Given the description of an element on the screen output the (x, y) to click on. 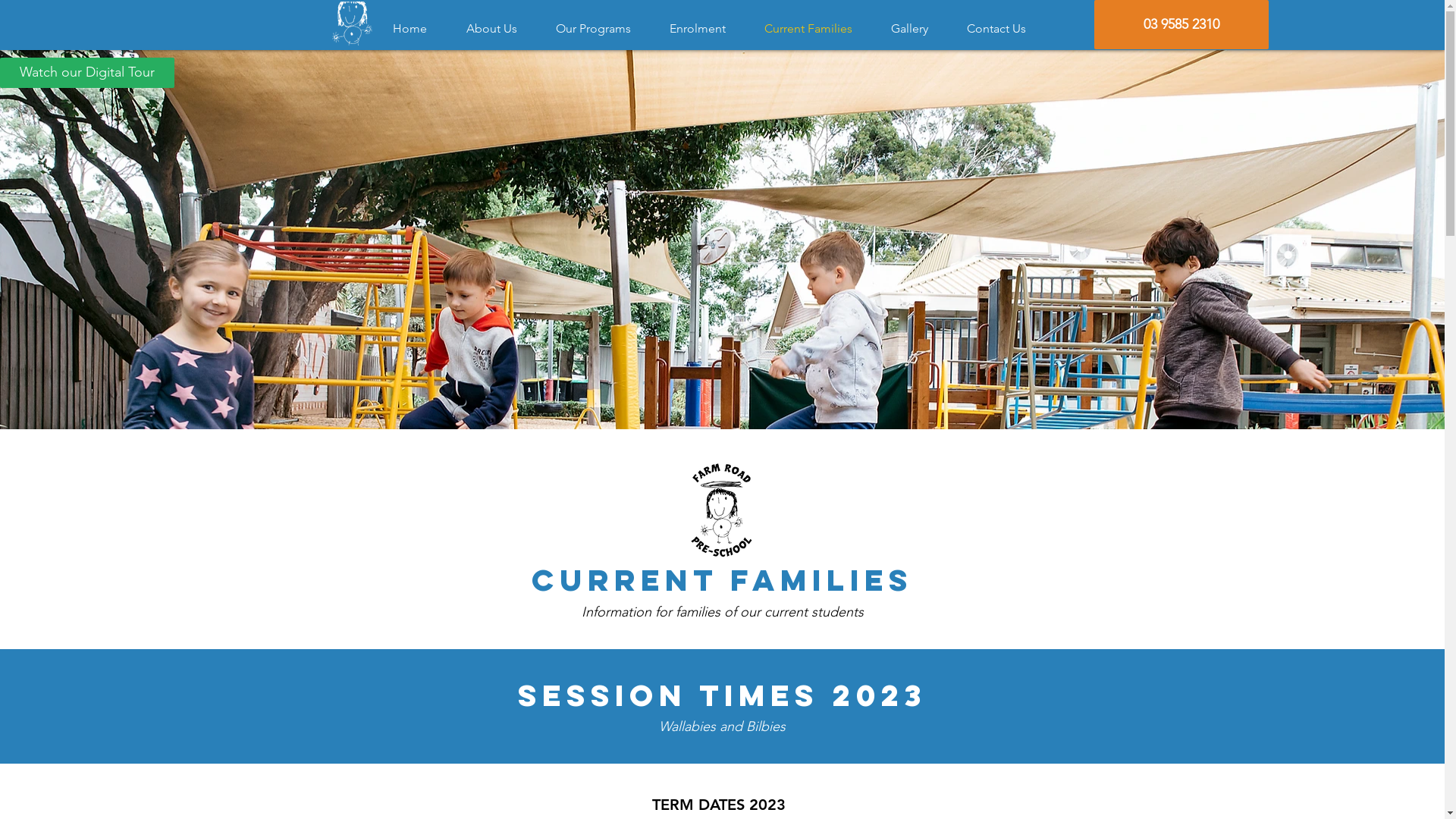
Watch our Digital Tour Element type: text (87, 72)
Gallery Element type: text (917, 28)
Enrolment Element type: text (705, 28)
03 9585 2310 Element type: text (1180, 24)
About Us Element type: text (499, 28)
Contact Us Element type: text (1004, 28)
Our Programs Element type: text (601, 28)
Current Families Element type: text (815, 28)
Home Element type: text (417, 28)
